Given the description of an element on the screen output the (x, y) to click on. 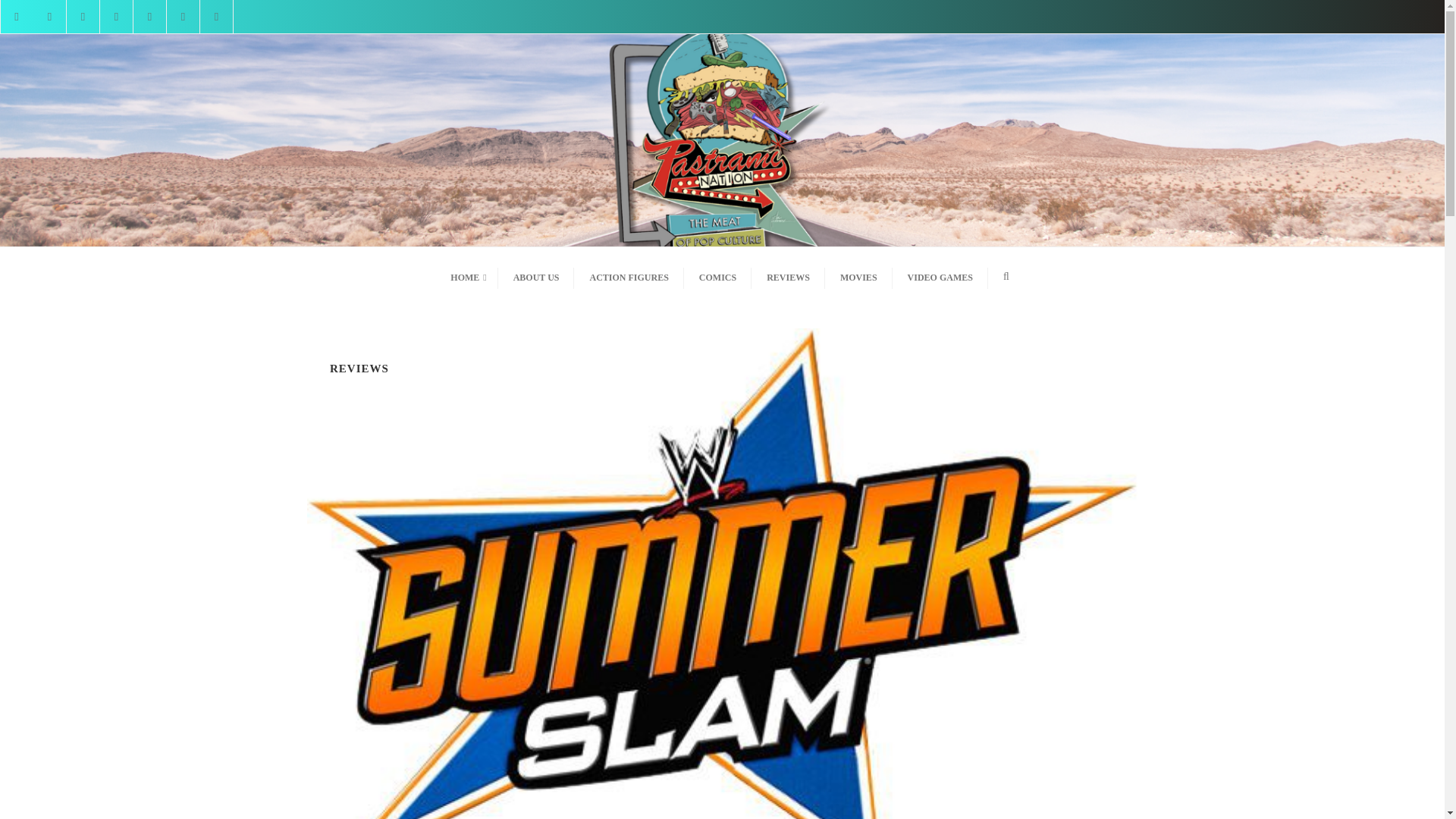
REVIEWS (788, 276)
MOVIES (858, 276)
ACTION FIGURES (627, 276)
COMICS (717, 276)
ABOUT US (536, 276)
HOME (466, 276)
VIDEO GAMES (940, 276)
